Given the description of an element on the screen output the (x, y) to click on. 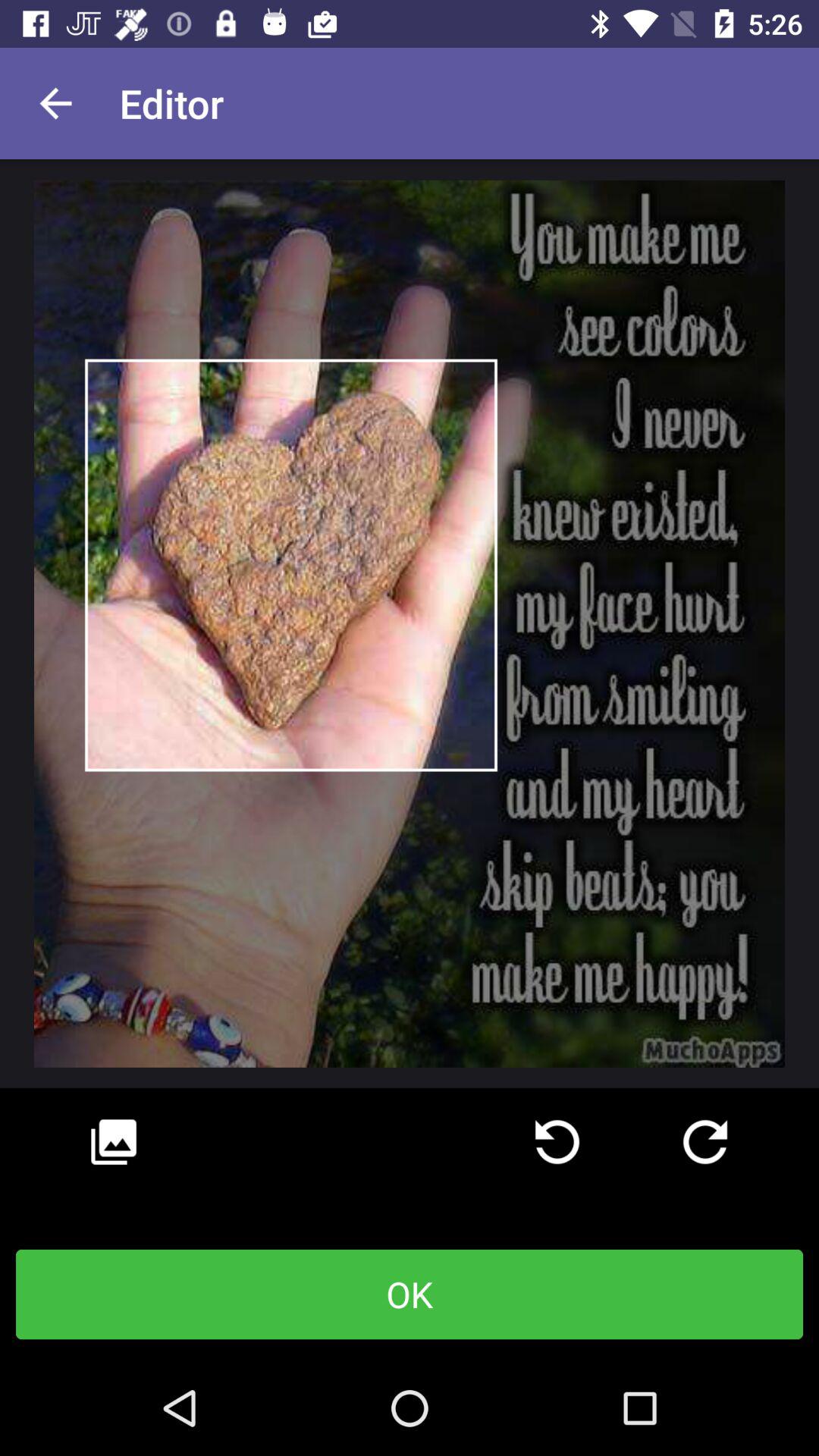
choose icon to the left of editor app (55, 103)
